Given the description of an element on the screen output the (x, y) to click on. 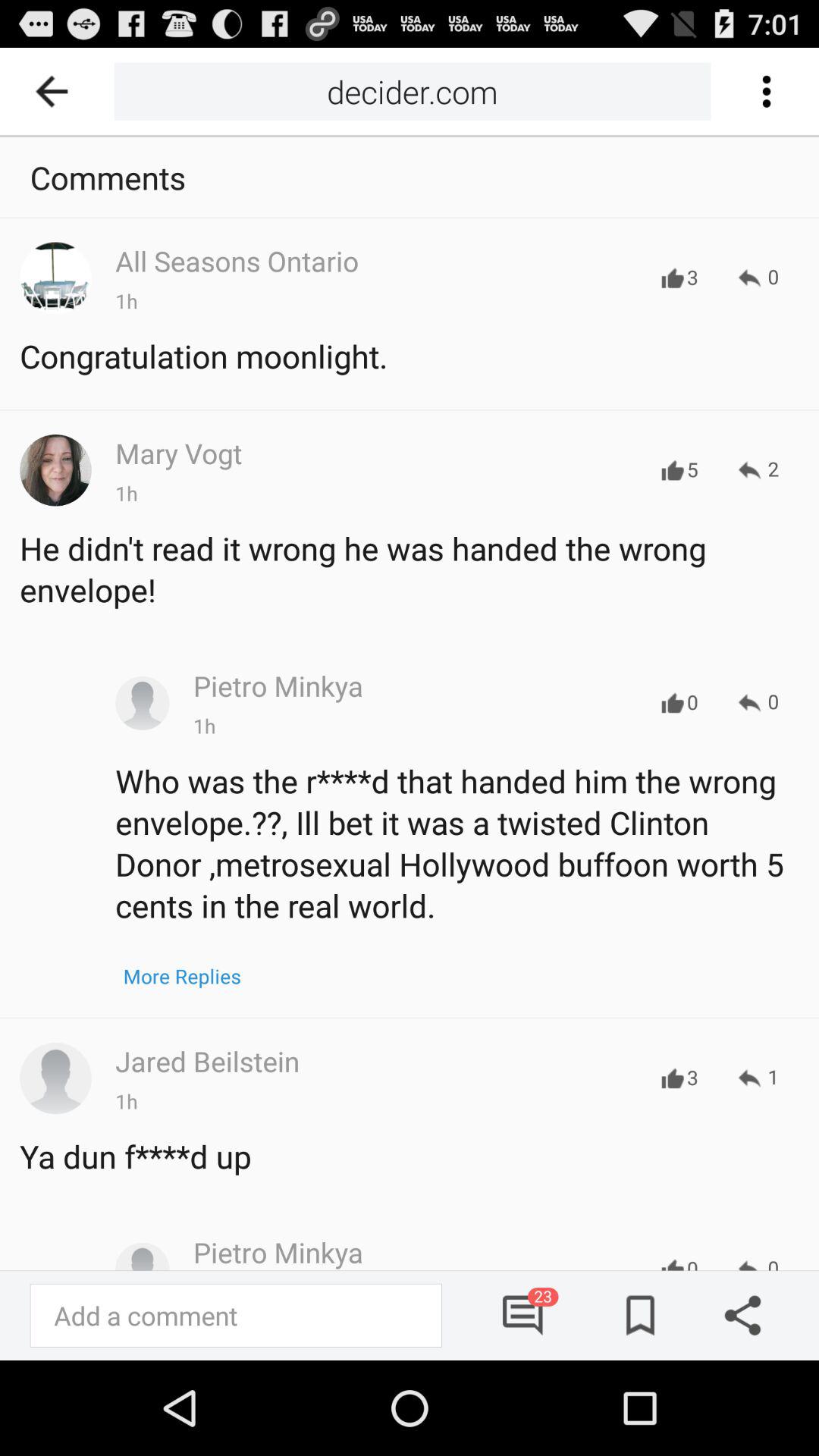
scroll to more replies (182, 975)
